Given the description of an element on the screen output the (x, y) to click on. 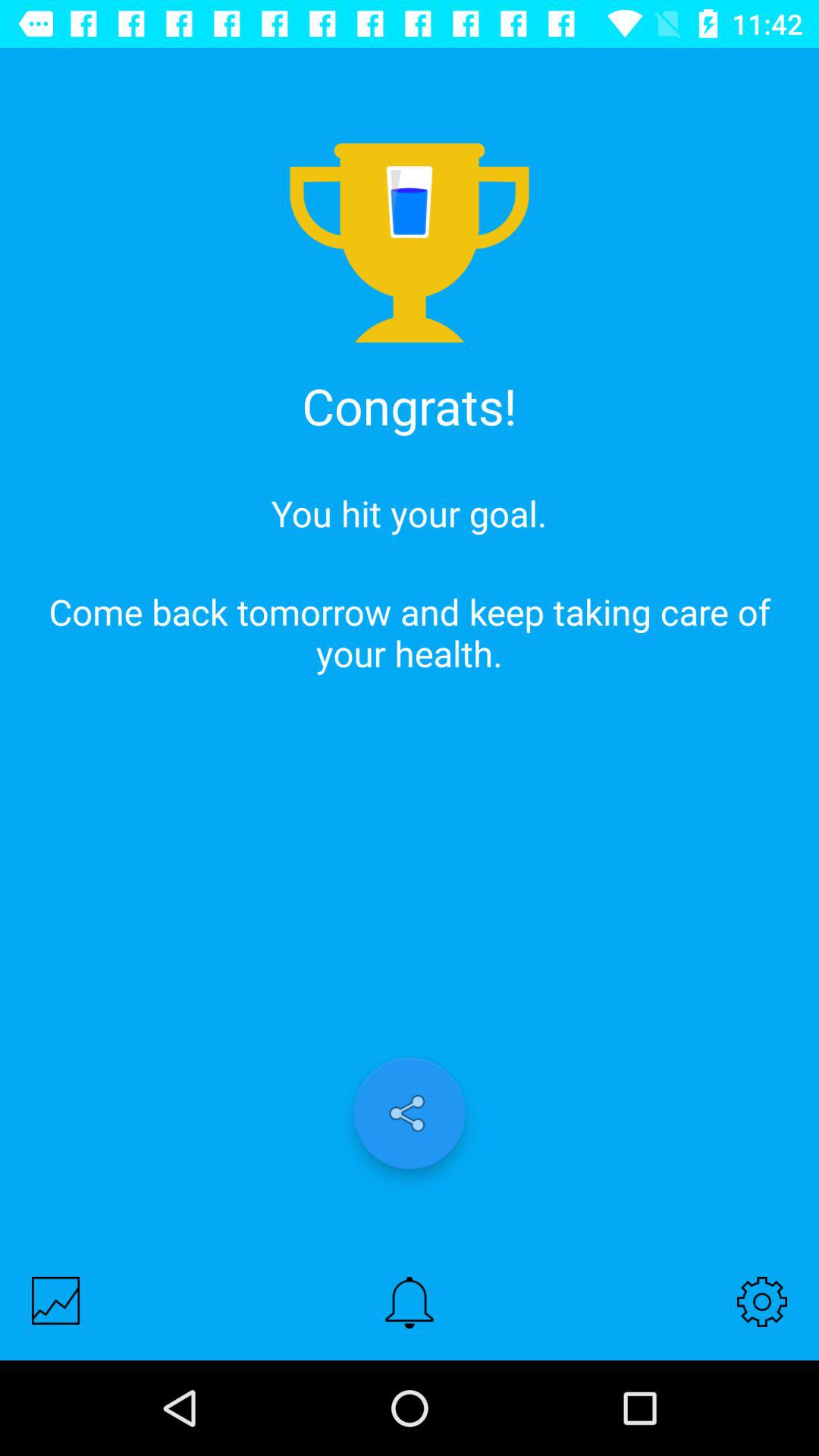
options button (762, 1301)
